Given the description of an element on the screen output the (x, y) to click on. 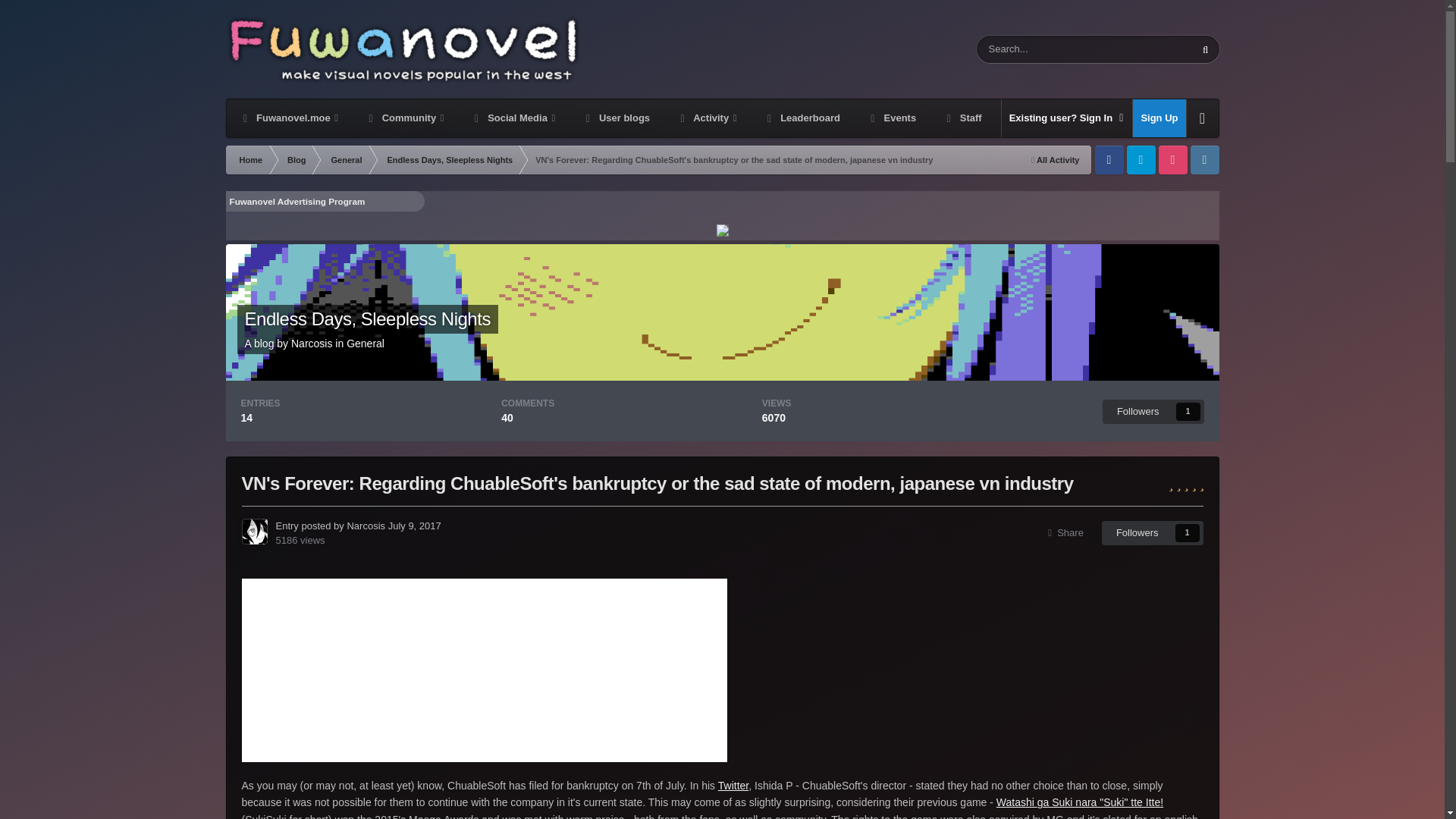
Go to Narcosis's profile (253, 531)
User blogs (616, 118)
Activity (706, 118)
Fuwanovel.moe (288, 118)
Go to Narcosis's profile (311, 343)
Community (405, 118)
Go to the blog Endless Days, Sleepless Nights (366, 318)
Social Media (513, 118)
Sign in to follow this (1153, 411)
Sign in to follow this (1153, 532)
